Given the description of an element on the screen output the (x, y) to click on. 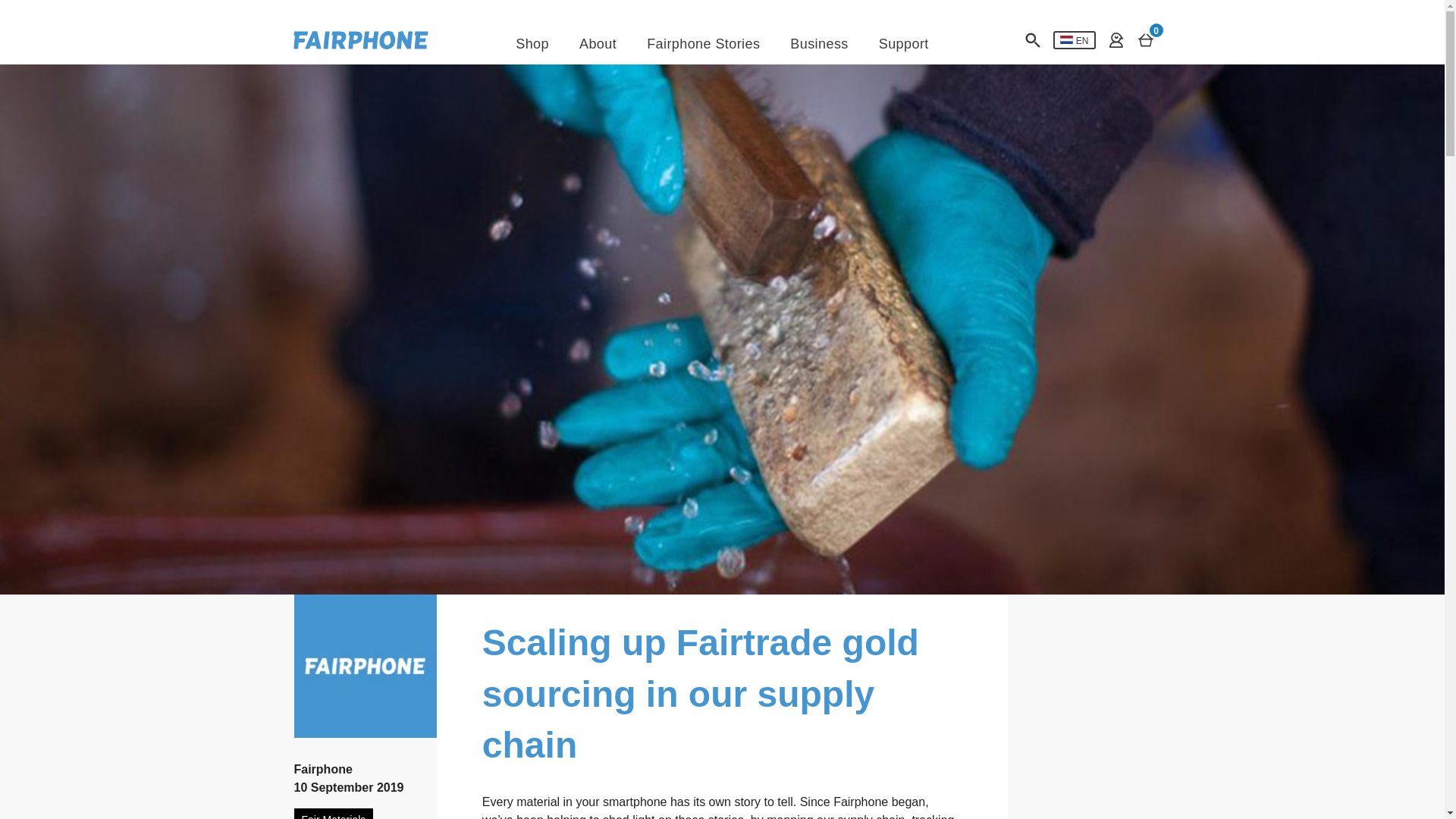
Support (903, 43)
About (597, 43)
Search (1032, 40)
Business (818, 43)
Shop (531, 43)
Fairphone Stories (703, 43)
EN (1144, 40)
User (1073, 40)
